Given the description of an element on the screen output the (x, y) to click on. 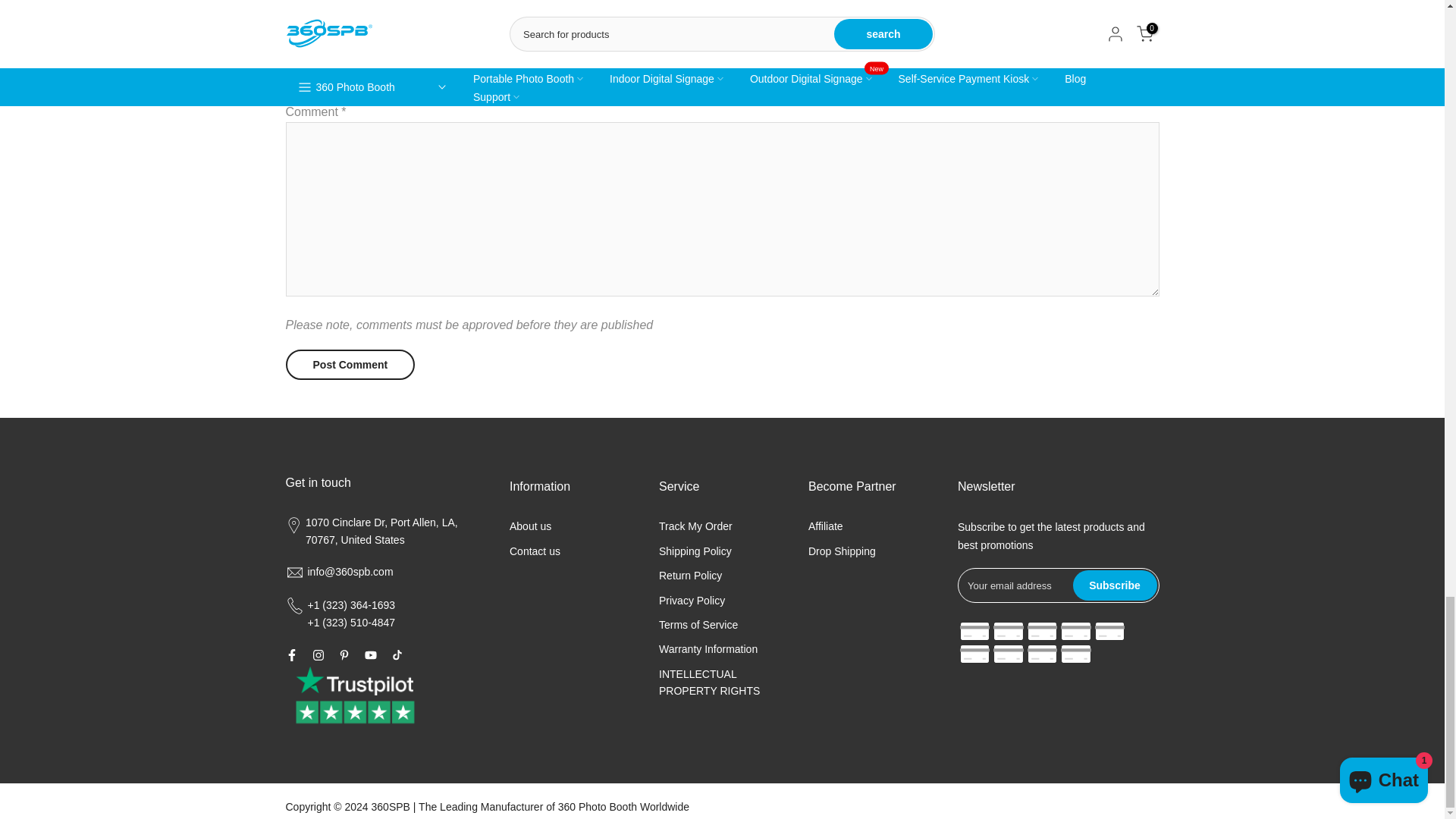
Post Comment (349, 364)
Follow on YouTube (369, 655)
Follow on Instagram (318, 655)
Follow on Pinterest (343, 655)
Follow on Tiktok (396, 655)
Follow on Facebook (291, 655)
